Given the description of an element on the screen output the (x, y) to click on. 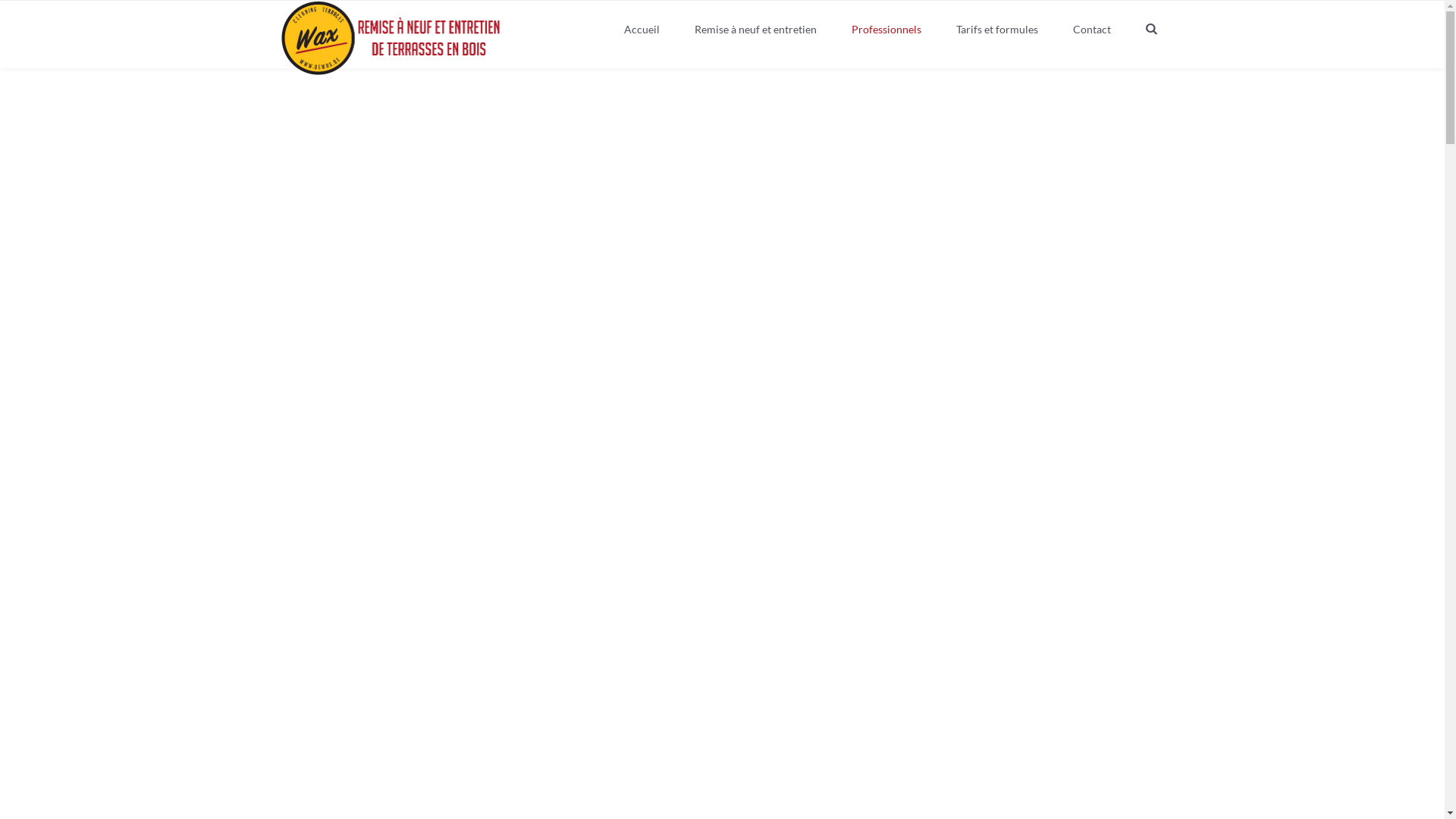
Contact Element type: text (1091, 29)
Accueil Element type: text (641, 29)
Wax nettoyage  entretien de terrasses en bois Element type: hover (392, 37)
Tarifs et formules Element type: text (996, 29)
Professionnels Element type: text (886, 29)
